Given the description of an element on the screen output the (x, y) to click on. 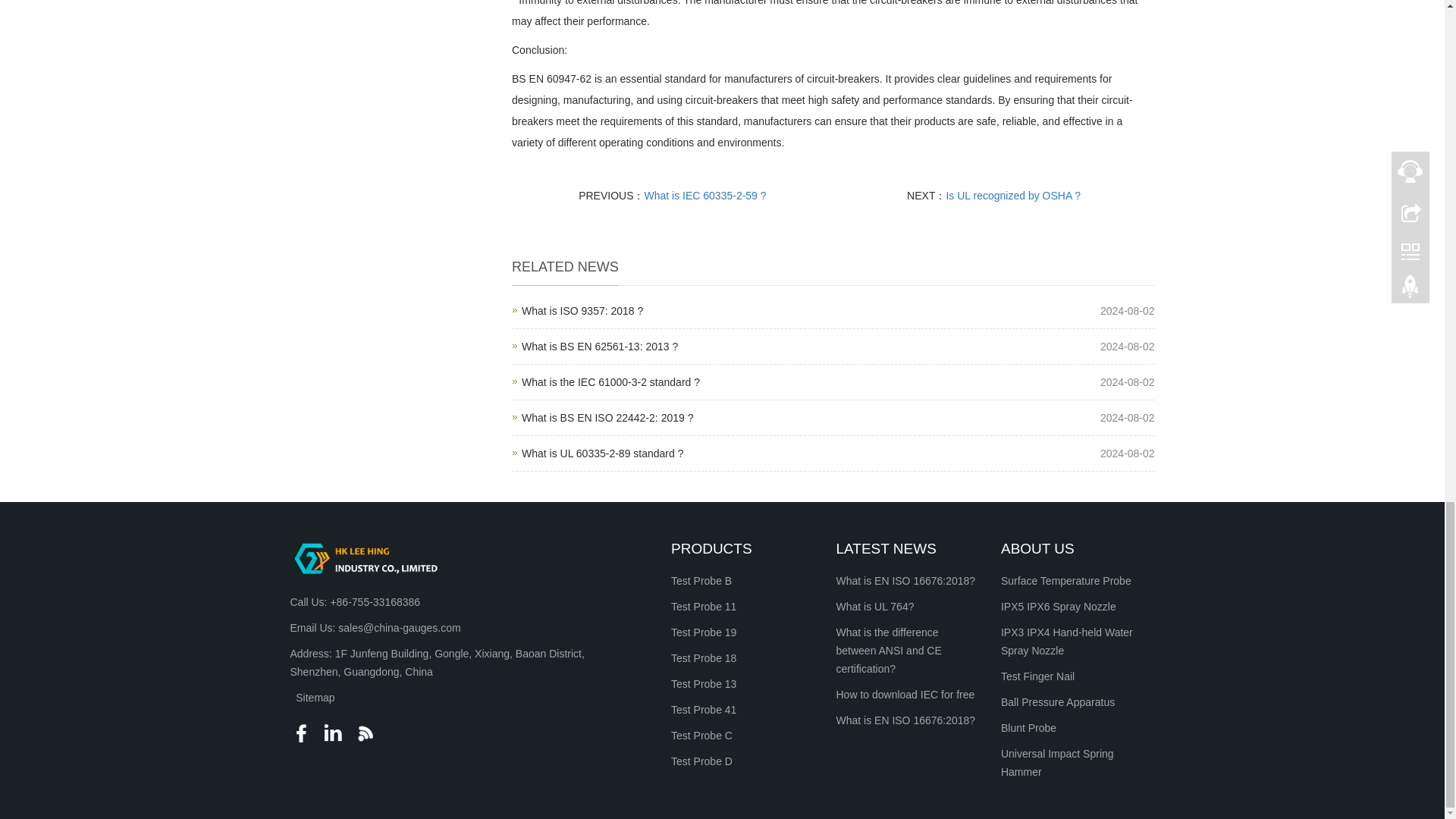
What is IEC 60335-2-59 ? (706, 195)
Is UL recognized by OSHA ? (599, 346)
What is ISO 9357: 2018 ? (610, 381)
